Given the description of an element on the screen output the (x, y) to click on. 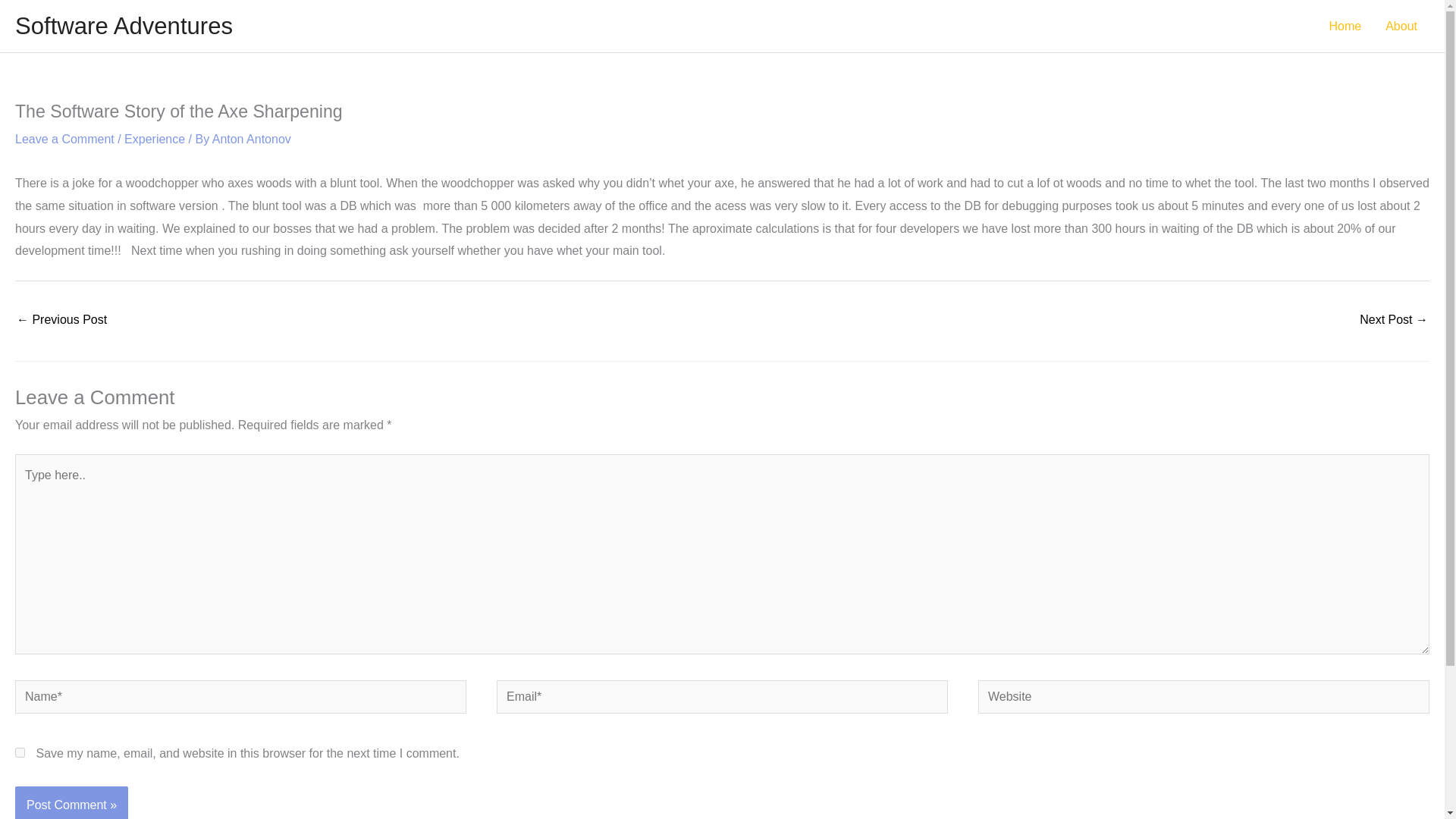
About (1401, 26)
Leave a Comment (64, 138)
Experience (153, 138)
Thought of the day by Don Marquis (1393, 320)
Anton Antonov (251, 138)
Software Adventures (123, 26)
Thought of the day by Voltaire (61, 320)
yes (19, 752)
Home (1344, 26)
View all posts by Anton Antonov (251, 138)
